Given the description of an element on the screen output the (x, y) to click on. 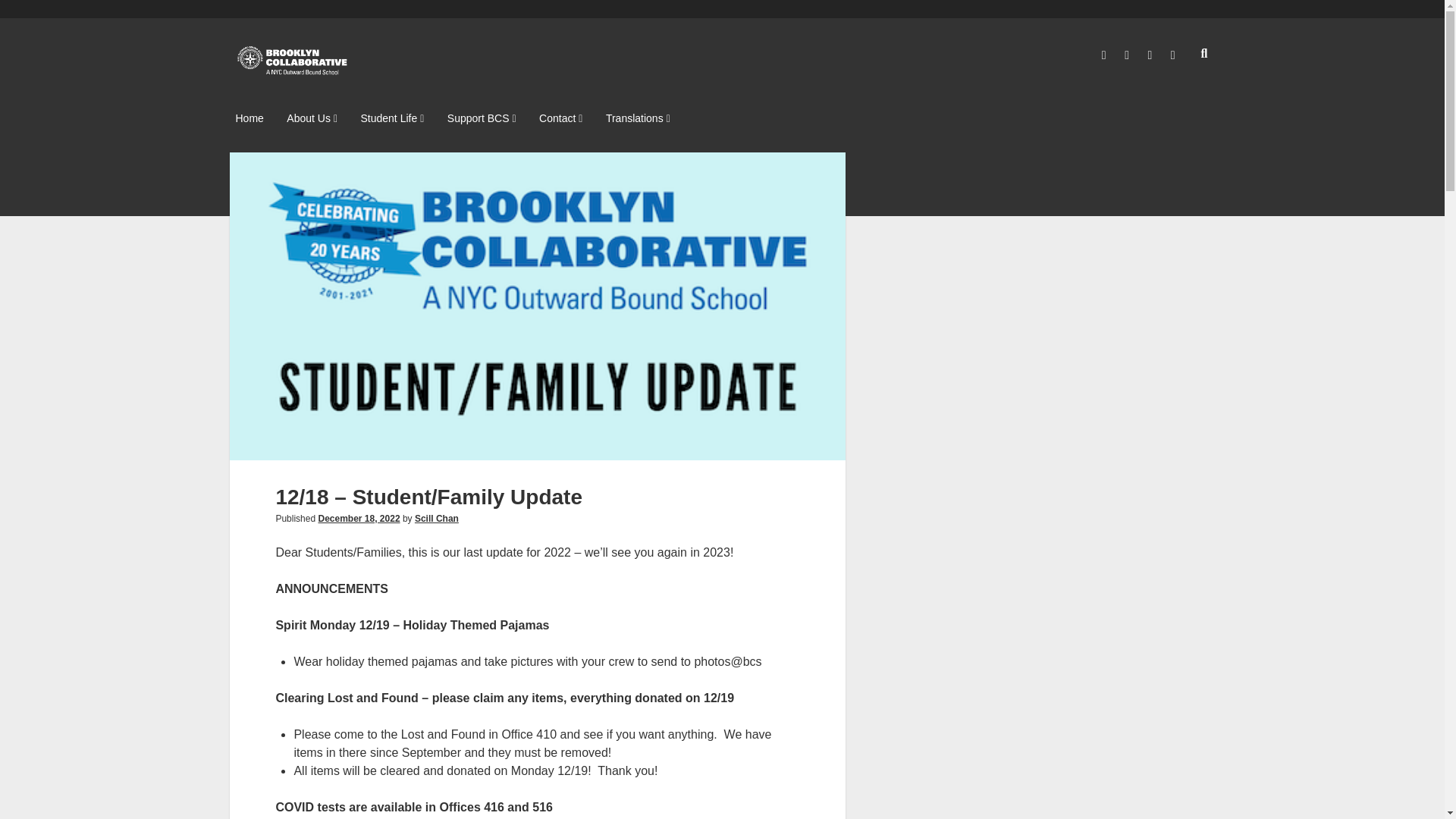
facebook (1104, 55)
instagram (1126, 55)
About Us (312, 118)
Home (248, 118)
facebook (1104, 55)
Brooklyn Collaborative (292, 70)
Support BCS (481, 118)
Student Life (391, 118)
instagram (1126, 55)
